Given the description of an element on the screen output the (x, y) to click on. 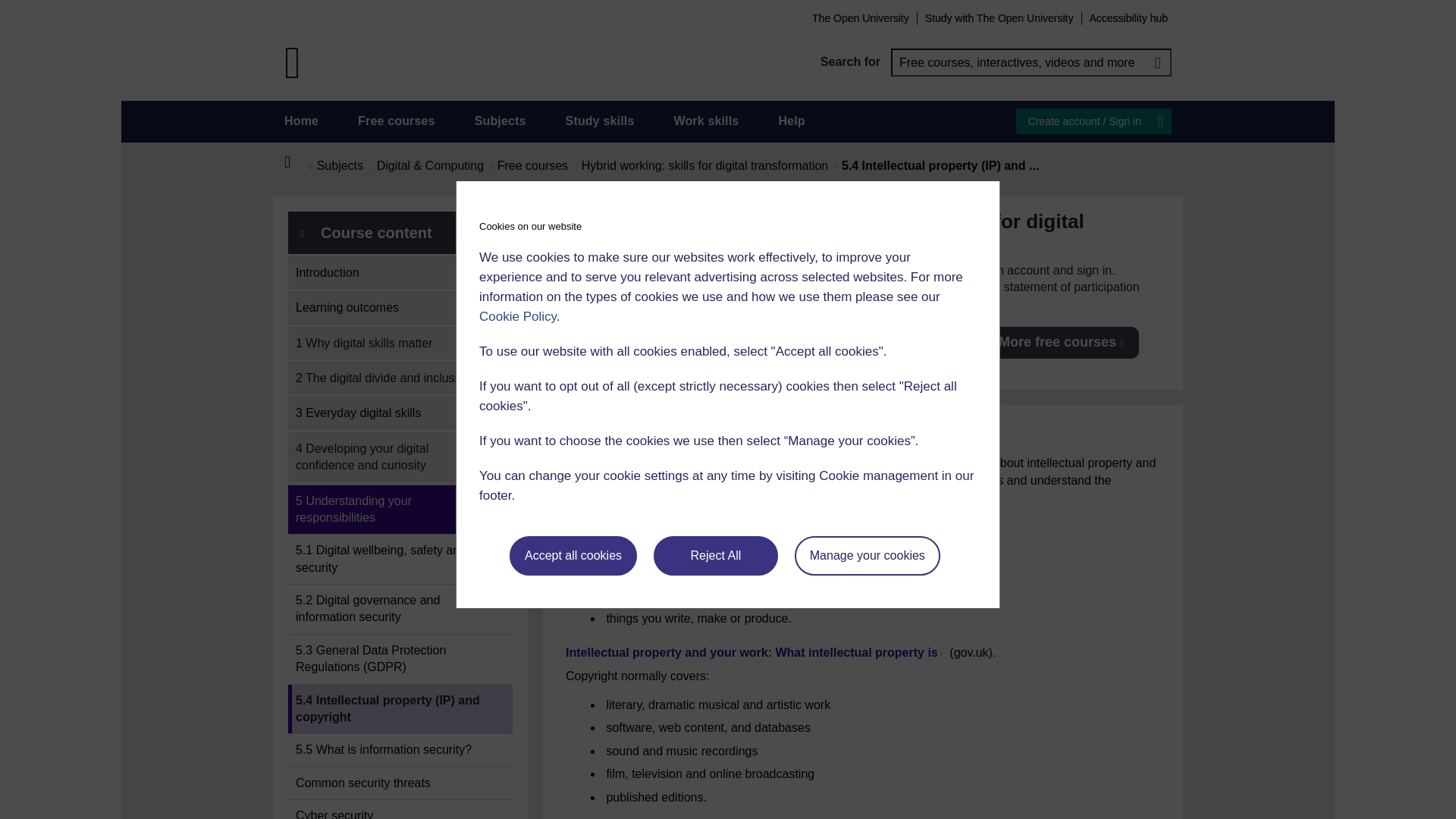
Help (791, 120)
Reject All (715, 555)
Study with The Open University (999, 17)
Manage your cookies (867, 555)
Free courses (396, 120)
Accept all cookies (573, 555)
Cookie Policy (517, 316)
Subjects (499, 120)
The Open University (860, 17)
Study skills (600, 120)
Work skills (705, 120)
Accessibility hub (1129, 17)
Home (295, 162)
Home (300, 120)
Search (1157, 62)
